Given the description of an element on the screen output the (x, y) to click on. 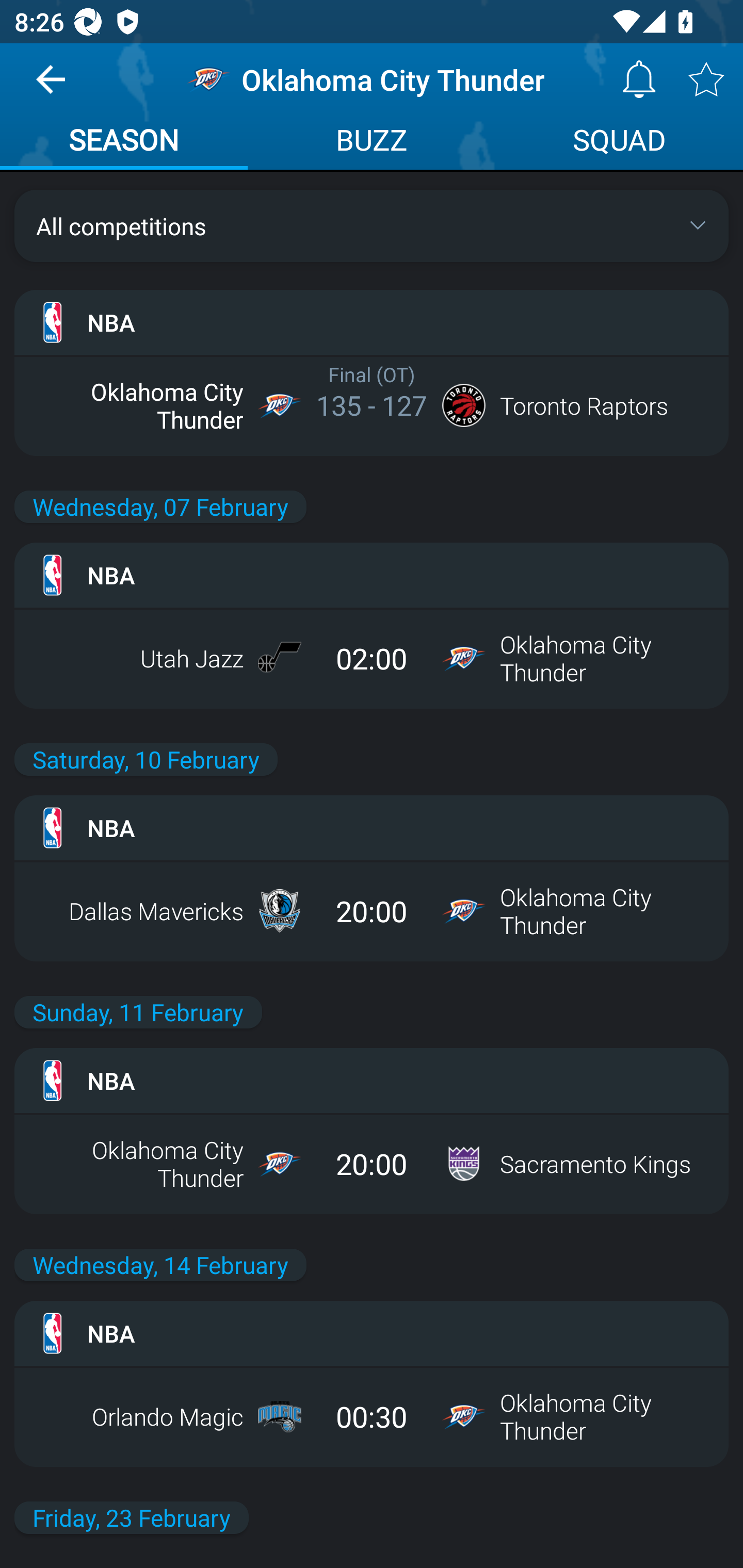
Navigate up (50, 86)
SEASON (123, 142)
BUZZ (371, 142)
SQUAD (619, 142)
All competitions (371, 225)
NBA (371, 322)
NBA (371, 575)
Utah Jazz 02:00 Oklahoma City Thunder (371, 658)
NBA (371, 827)
Dallas Mavericks 20:00 Oklahoma City Thunder (371, 910)
NBA (371, 1080)
Oklahoma City Thunder 20:00 Sacramento Kings (371, 1163)
NBA (371, 1333)
Orlando Magic 00:30 Oklahoma City Thunder (371, 1416)
